Given the description of an element on the screen output the (x, y) to click on. 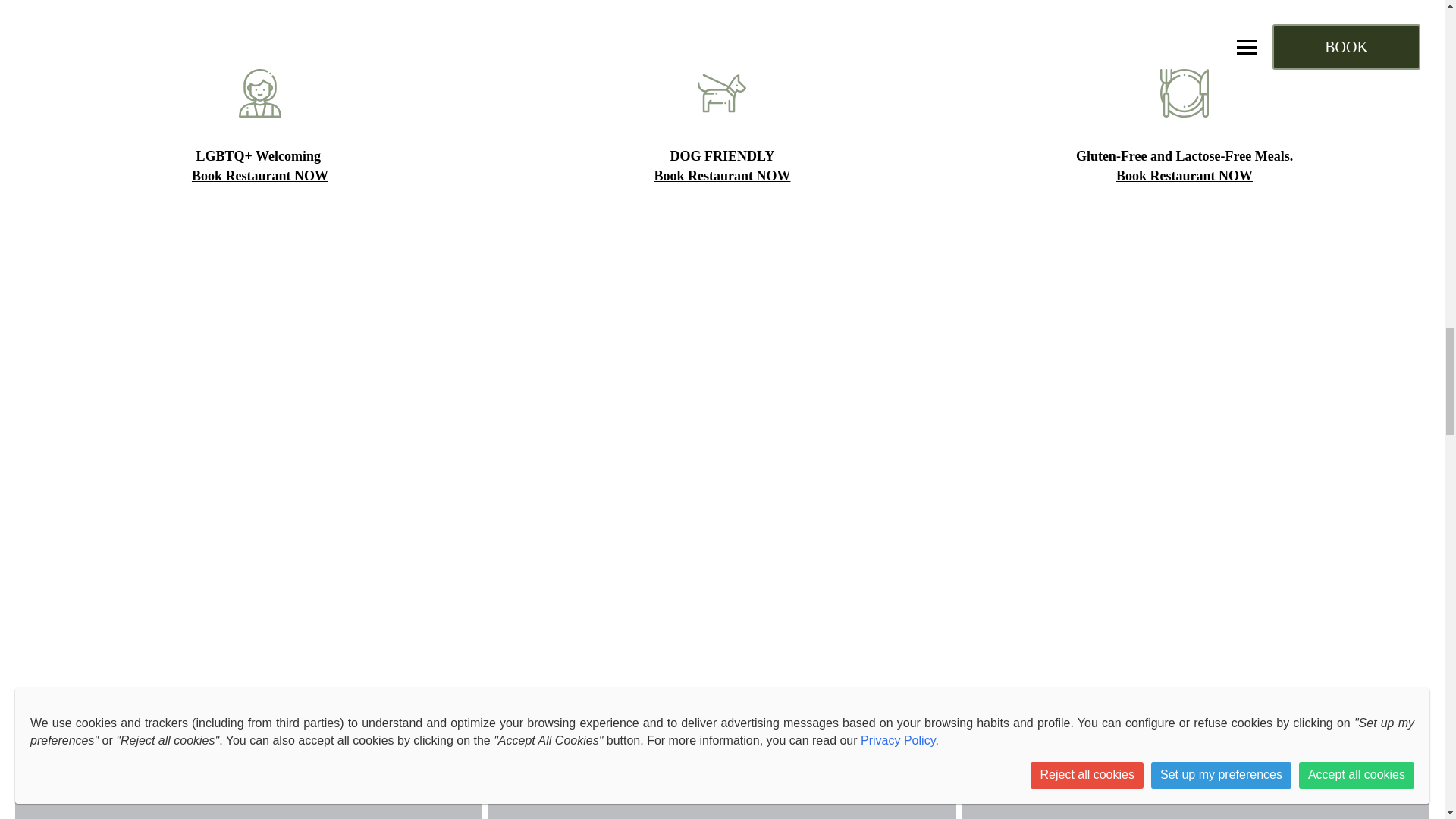
Twin Room (721, 757)
Gluten-Free and Lactose-Free Meals. (1183, 155)
Double Room (247, 757)
Book Restaurant NOW (1184, 175)
Book Restaurant NOW (260, 175)
Single Room (1195, 757)
Book Restaurant NOW (721, 175)
